Given the description of an element on the screen output the (x, y) to click on. 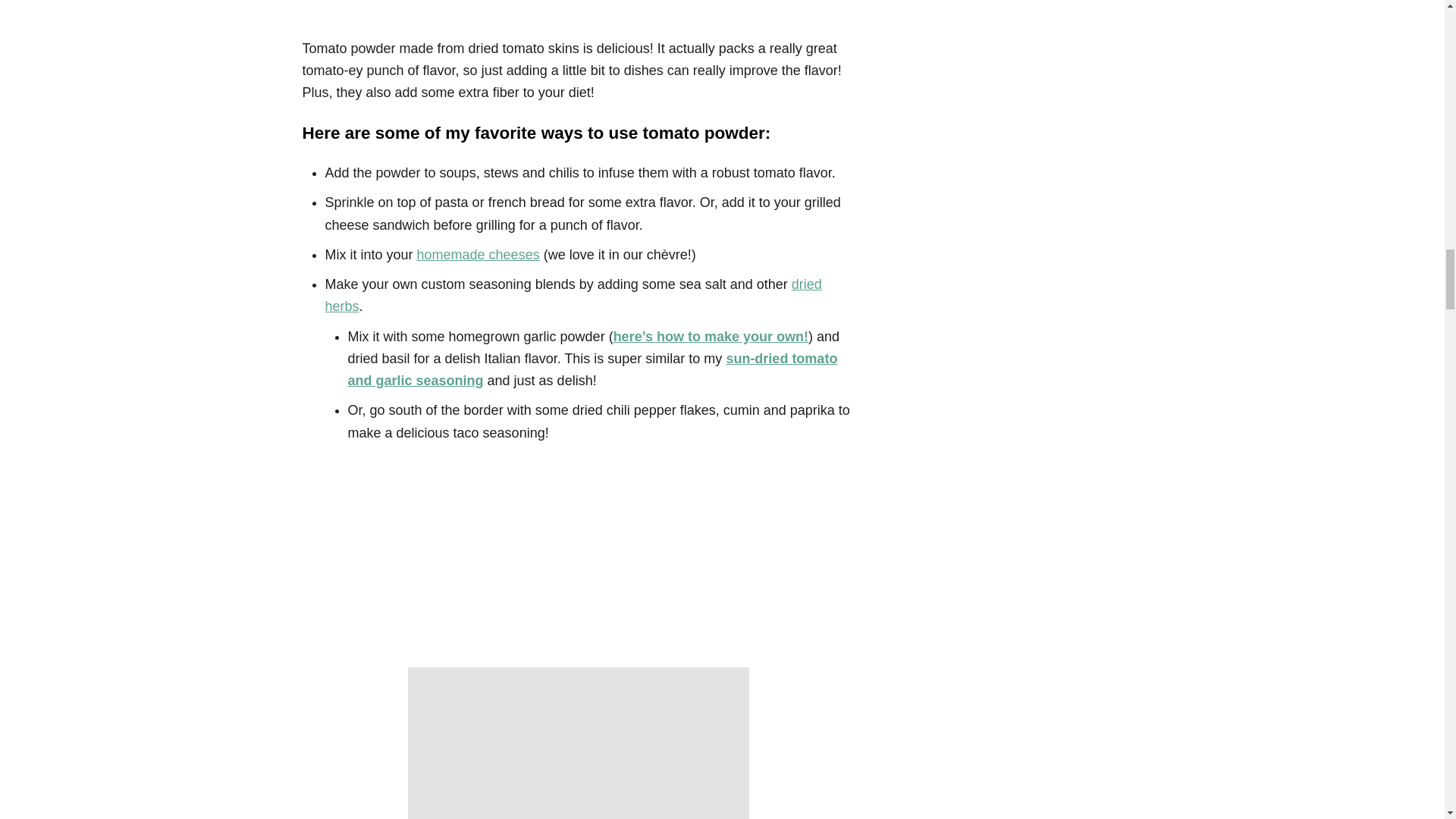
dried herbs (572, 294)
sun-dried tomato and garlic seasoning (592, 369)
homemade cheeses (478, 254)
